Given the description of an element on the screen output the (x, y) to click on. 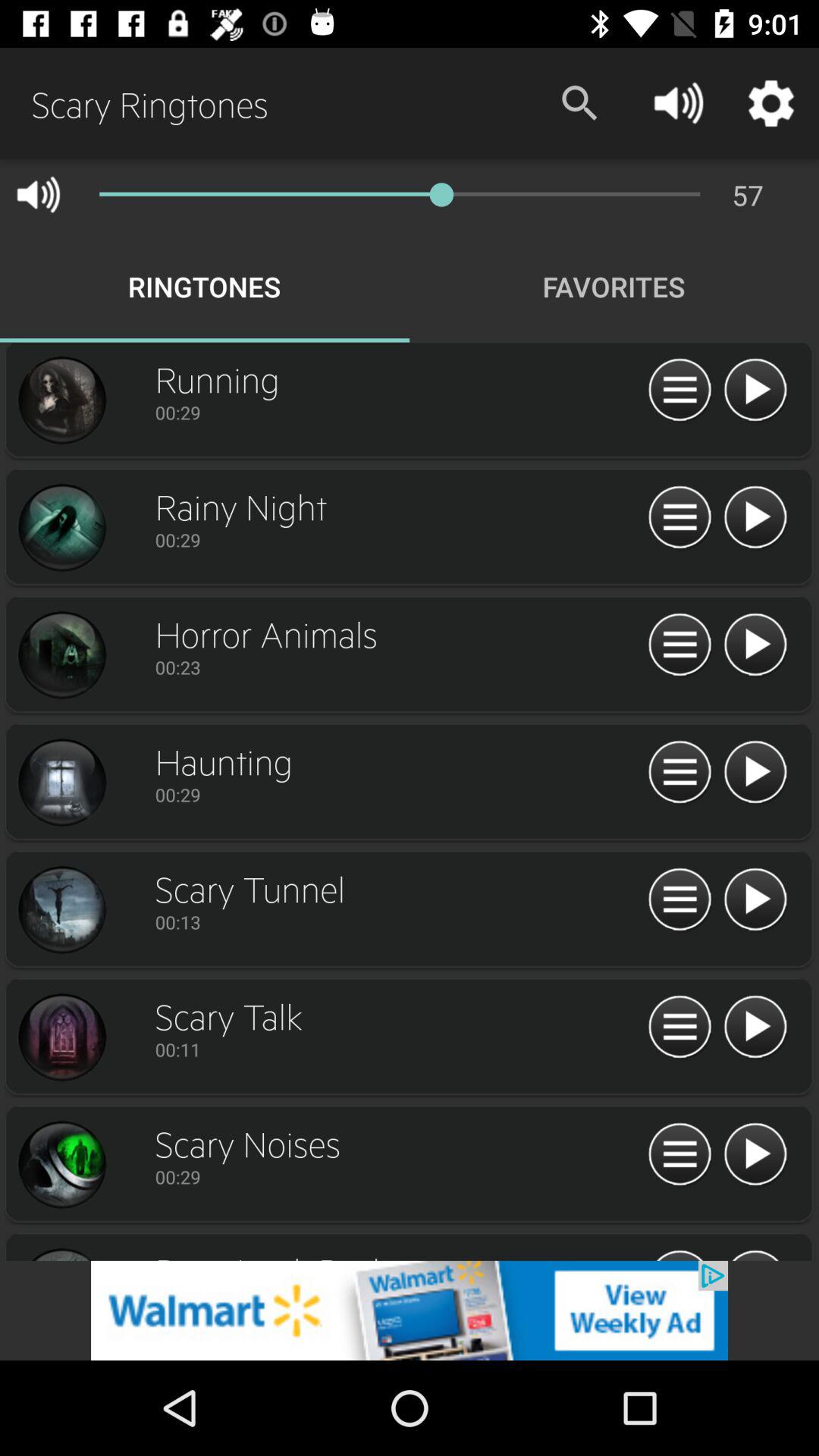
content view option (679, 390)
